Given the description of an element on the screen output the (x, y) to click on. 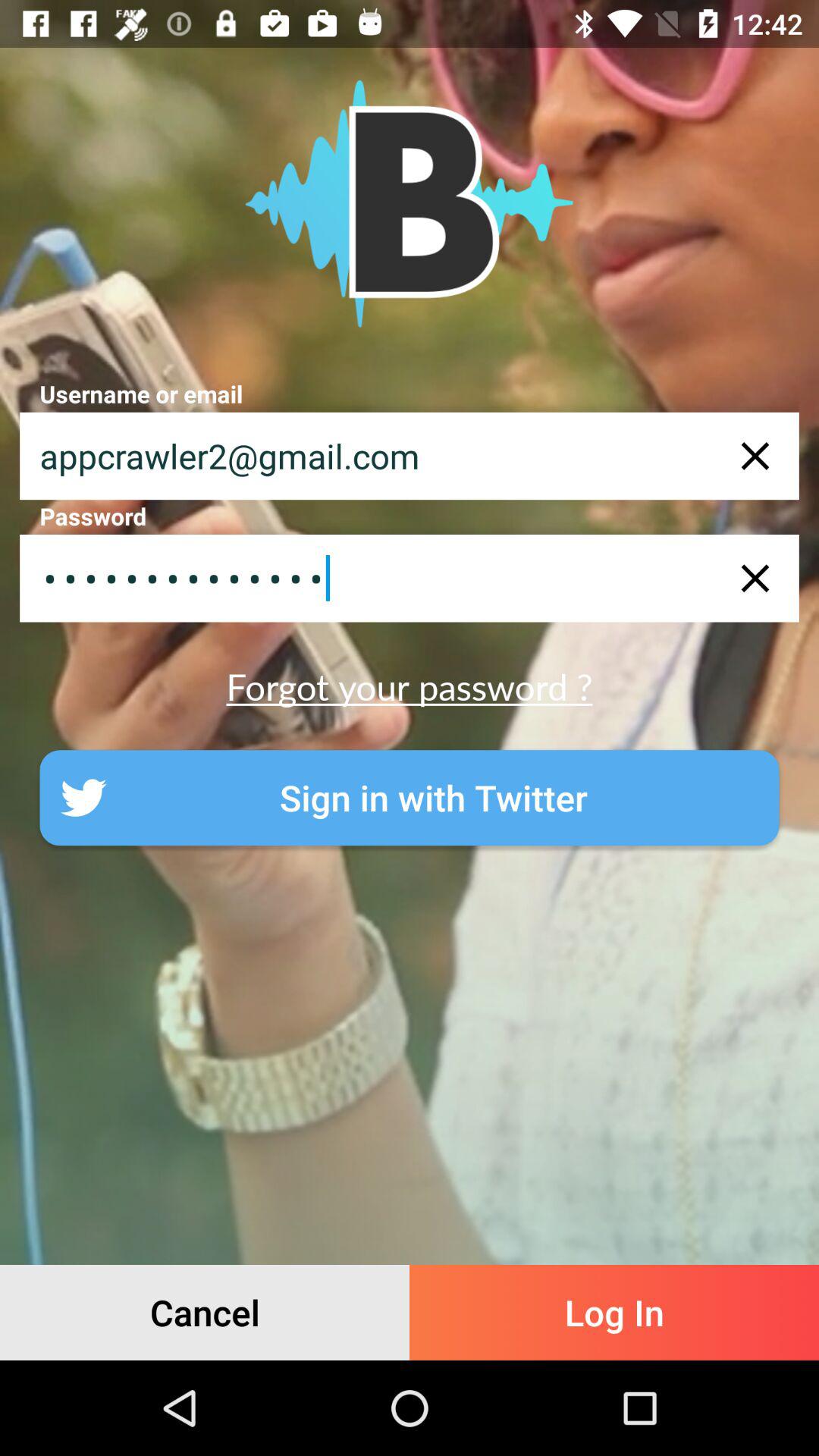
open icon at the bottom right corner (614, 1312)
